Given the description of an element on the screen output the (x, y) to click on. 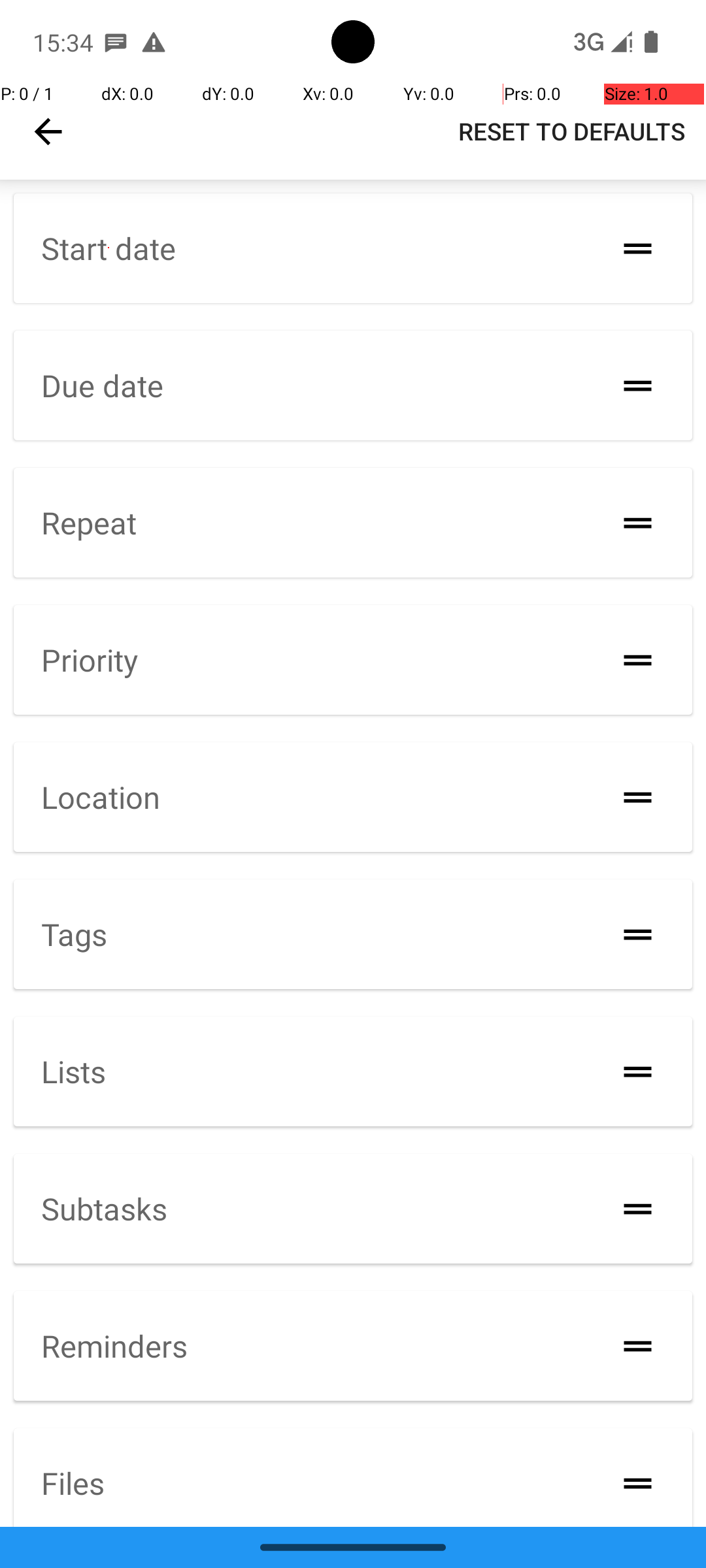
RESET TO DEFAULTS Element type: android.widget.Button (571, 131)
Start date Element type: android.widget.TextView (108, 247)
Due date Element type: android.widget.TextView (102, 384)
Repeat Element type: android.widget.TextView (88, 521)
Tags Element type: android.widget.TextView (74, 933)
Lists Element type: android.widget.TextView (73, 1070)
Subtasks Element type: android.widget.TextView (104, 1207)
Reminders Element type: android.widget.TextView (114, 1345)
